Given the description of an element on the screen output the (x, y) to click on. 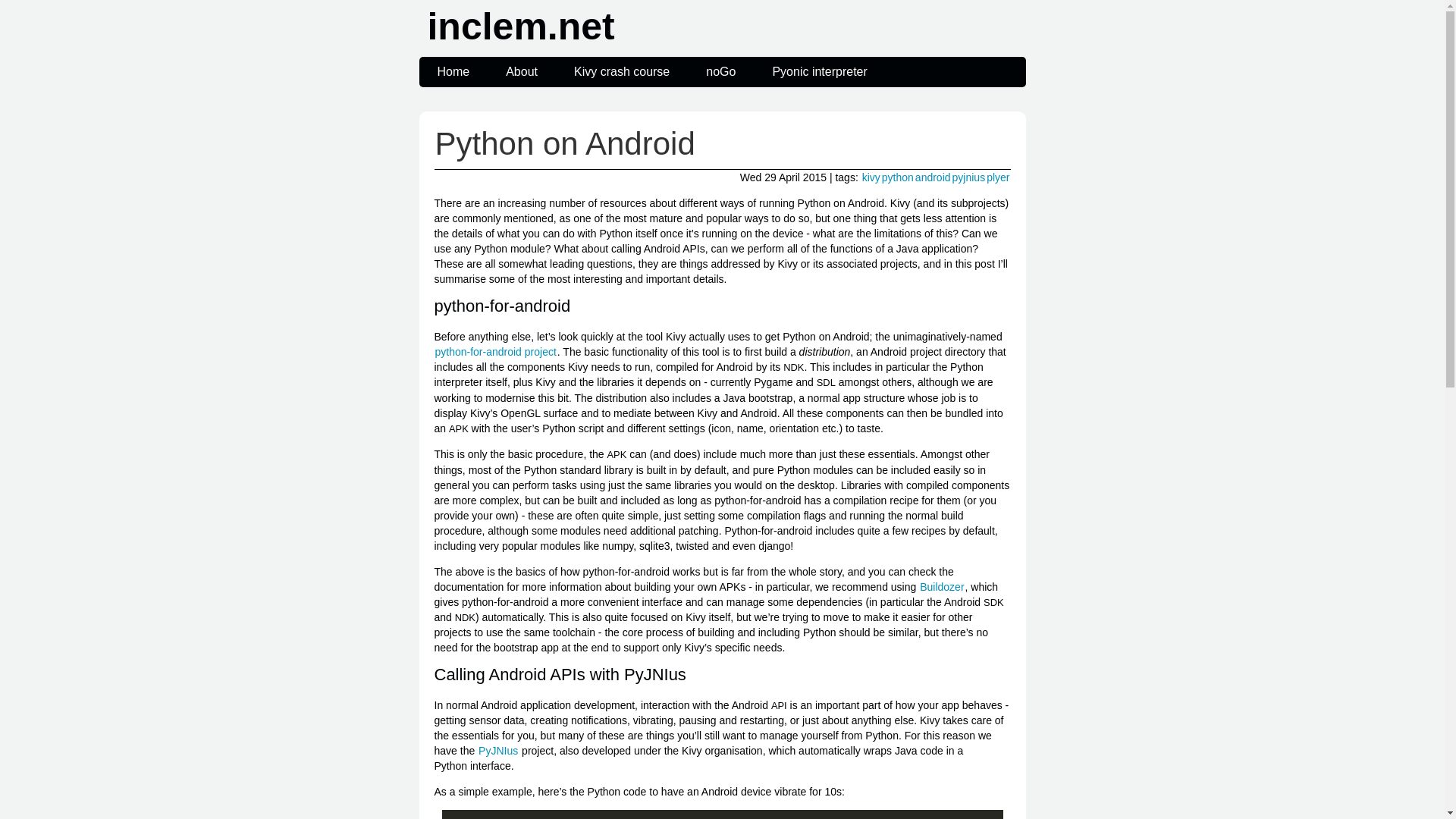
android (933, 177)
PyJNIus (497, 750)
About (521, 71)
noGo (720, 71)
Python on Android (564, 143)
Kivy crash course (621, 71)
Home (453, 71)
python (897, 177)
Pyonic interpreter (819, 71)
plyer (997, 177)
